Given the description of an element on the screen output the (x, y) to click on. 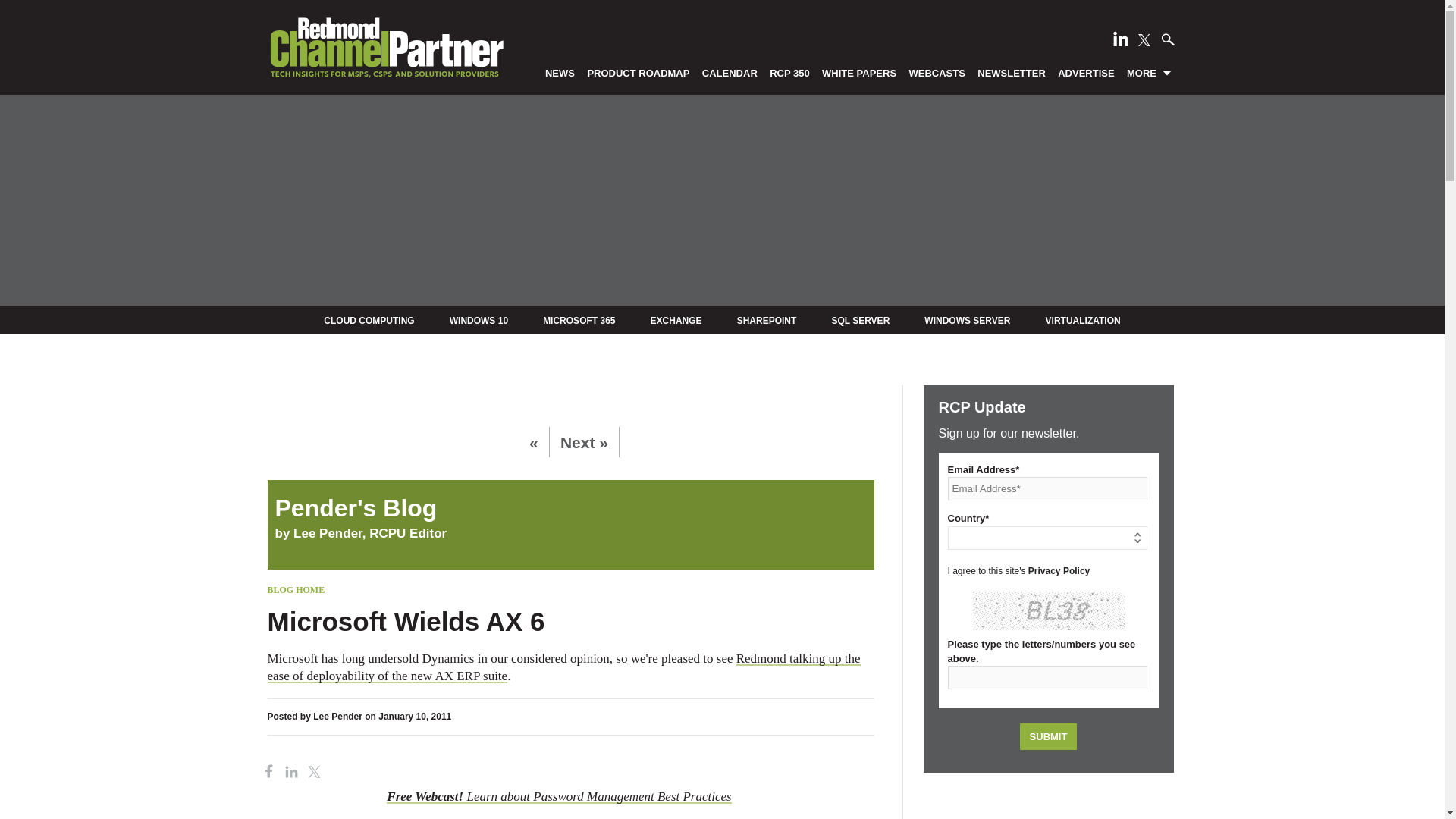
EXCHANGE (675, 320)
Submit (1048, 736)
SQL SERVER (860, 320)
MICROSOFT 365 (578, 320)
SHAREPOINT (766, 320)
CLOUD COMPUTING (368, 320)
WINDOWS SERVER (967, 320)
WHITE PAPERS (858, 72)
